Given the description of an element on the screen output the (x, y) to click on. 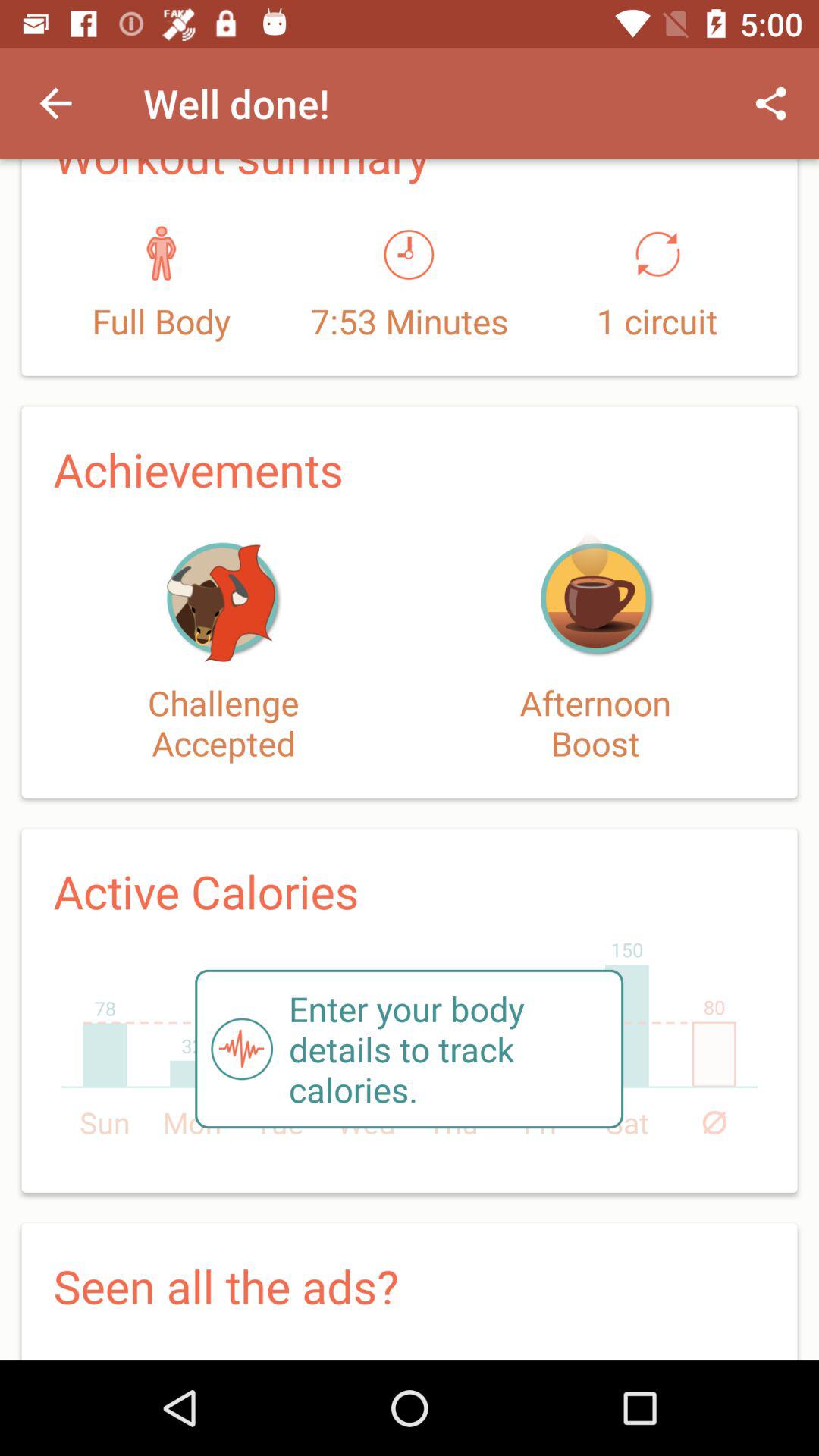
launch the icon to the right of workout summary (771, 103)
